Given the description of an element on the screen output the (x, y) to click on. 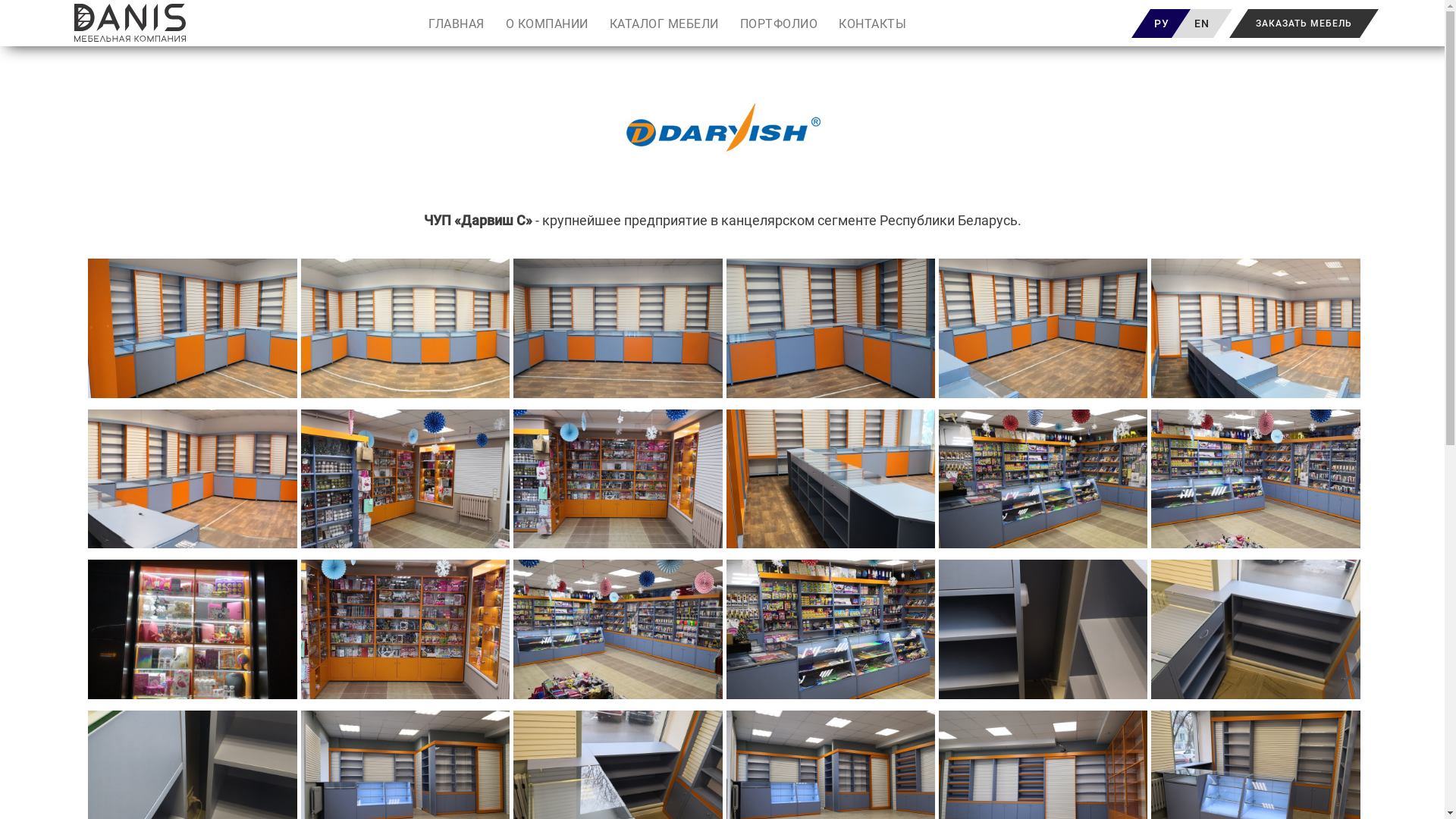
  Element type: hover (405, 479)
  Element type: hover (191, 328)
  Element type: hover (1255, 328)
  Element type: hover (830, 629)
  Element type: hover (1255, 479)
  Element type: hover (617, 479)
  Element type: hover (1042, 479)
  Element type: hover (830, 328)
  Element type: hover (191, 479)
  Element type: hover (1042, 629)
  Element type: hover (405, 328)
  Element type: hover (830, 479)
  Element type: hover (405, 629)
  Element type: hover (1042, 328)
  Element type: hover (617, 629)
  Element type: hover (1255, 629)
EN Element type: text (1201, 21)
  Element type: hover (617, 328)
  Element type: hover (191, 629)
